Given the description of an element on the screen output the (x, y) to click on. 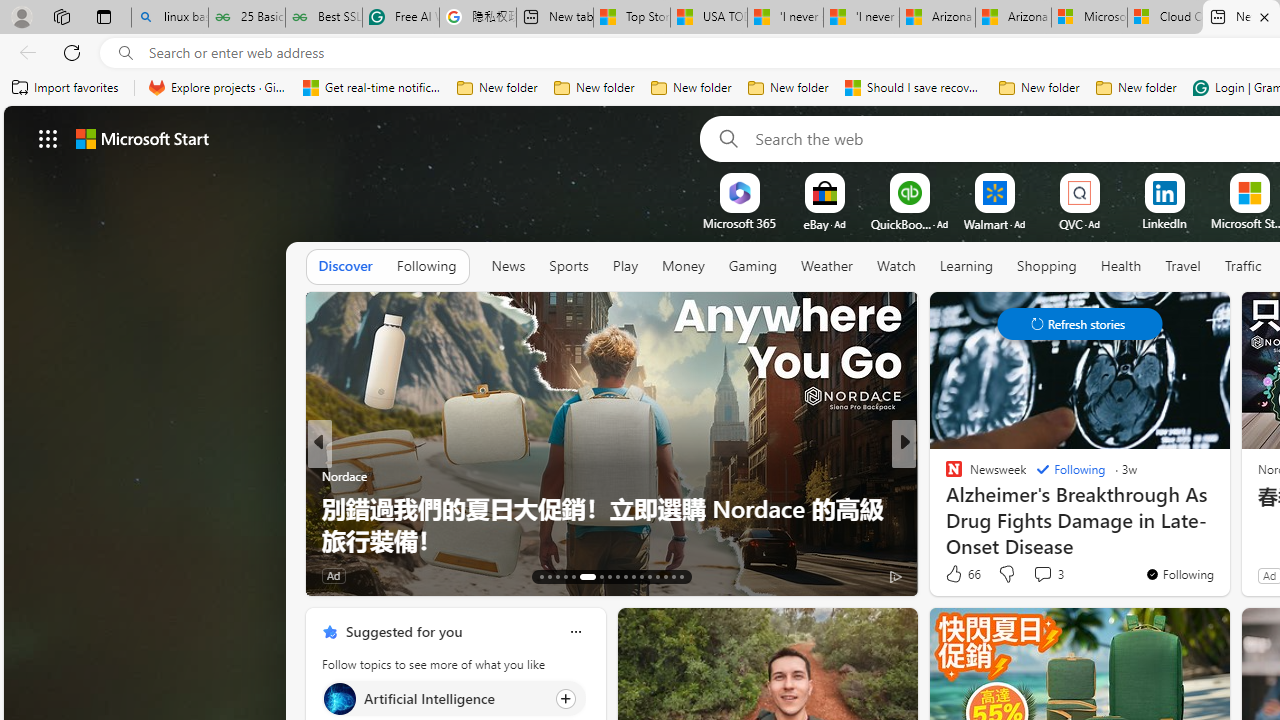
55 Like (956, 574)
AutomationID: tab-21 (617, 576)
View comments 16 Comment (1051, 574)
AutomationID: tab-20 (609, 576)
View comments 115 Comment (1054, 574)
AutomationID: tab-14 (549, 576)
107 Like (959, 574)
New folder (1136, 88)
View comments 2 Comment (1036, 575)
Search icon (125, 53)
View comments 26 Comment (1042, 575)
